Given the description of an element on the screen output the (x, y) to click on. 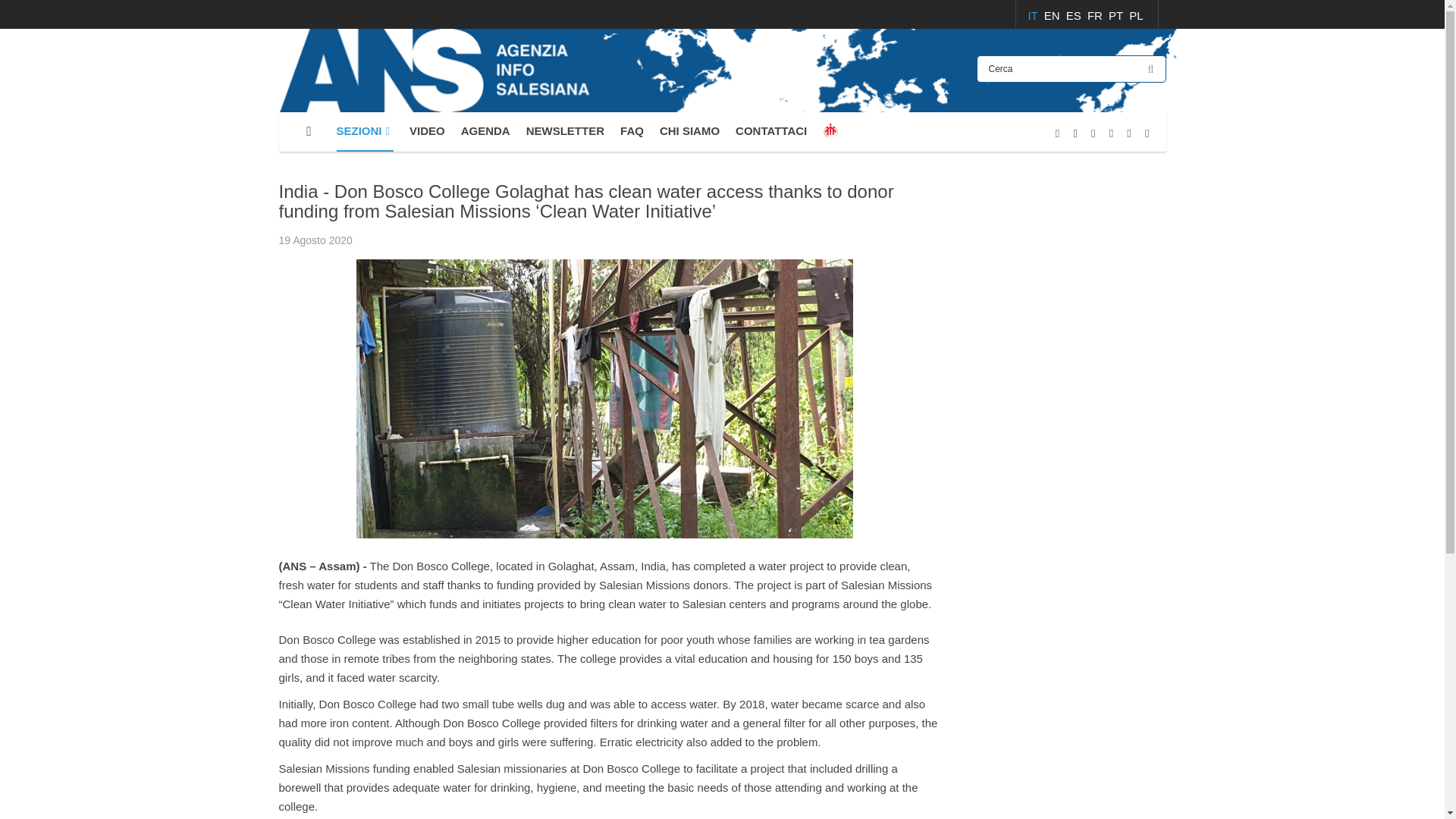
FR (1096, 15)
Cerca (1071, 68)
PL (1135, 15)
NEWSLETTER (564, 131)
AGENDA (486, 131)
SEZIONI (365, 131)
CONTATTACI (770, 131)
VIDEO (427, 131)
AGENDA (486, 131)
NEWSLETTER (564, 131)
